Given the description of an element on the screen output the (x, y) to click on. 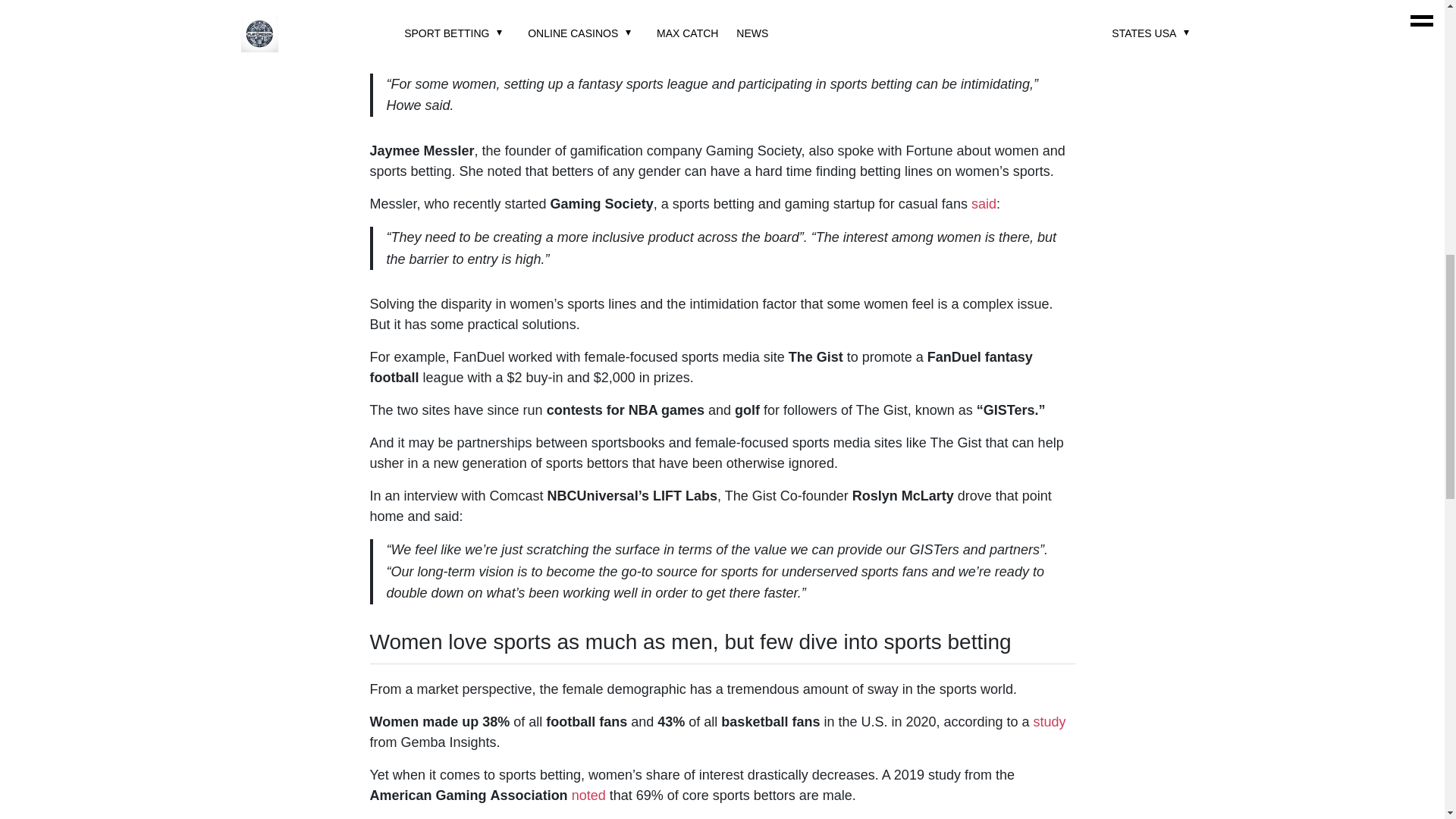
noted (588, 795)
said (983, 203)
study (1049, 721)
